Given the description of an element on the screen output the (x, y) to click on. 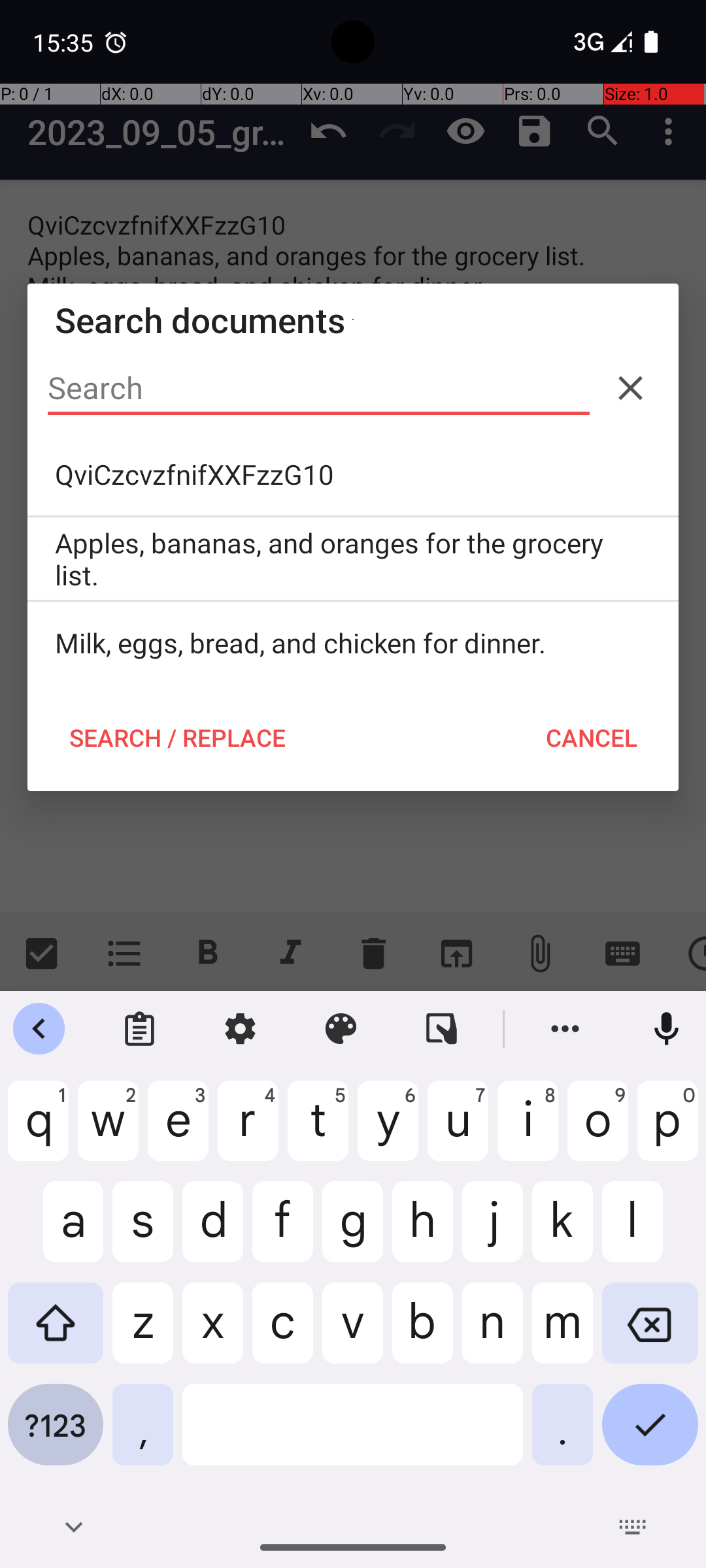
QviCzcvzfnifXXFzzG10 Element type: android.widget.TextView (352, 474)
Apples, bananas, and oranges for the grocery list. Element type: android.widget.TextView (352, 558)
Milk, eggs, bread, and chicken for dinner. Element type: android.widget.TextView (352, 642)
